Given the description of an element on the screen output the (x, y) to click on. 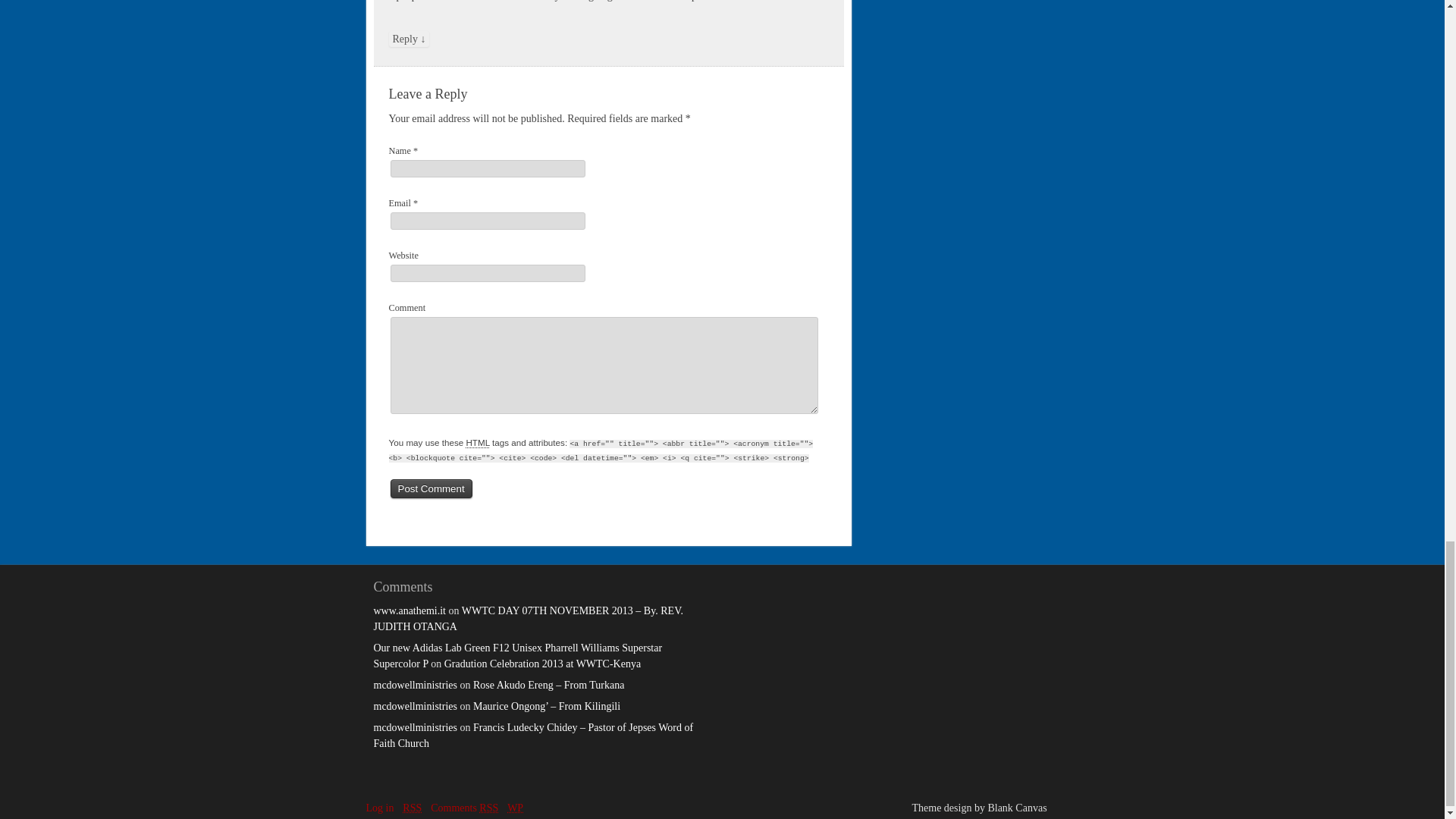
Syndicate this site using RSS (412, 808)
Comments RSS (463, 808)
Gradution Celebration 2013 at WWTC-Kenya (542, 663)
Post Comment (430, 488)
mcdowellministries (414, 706)
Post Comment (430, 488)
mcdowellministries (414, 685)
RSS (412, 808)
mcdowellministries (414, 727)
www.anathemi.it (408, 610)
WP (514, 808)
HyperText Markup Language (477, 442)
Log in (379, 808)
